Given the description of an element on the screen output the (x, y) to click on. 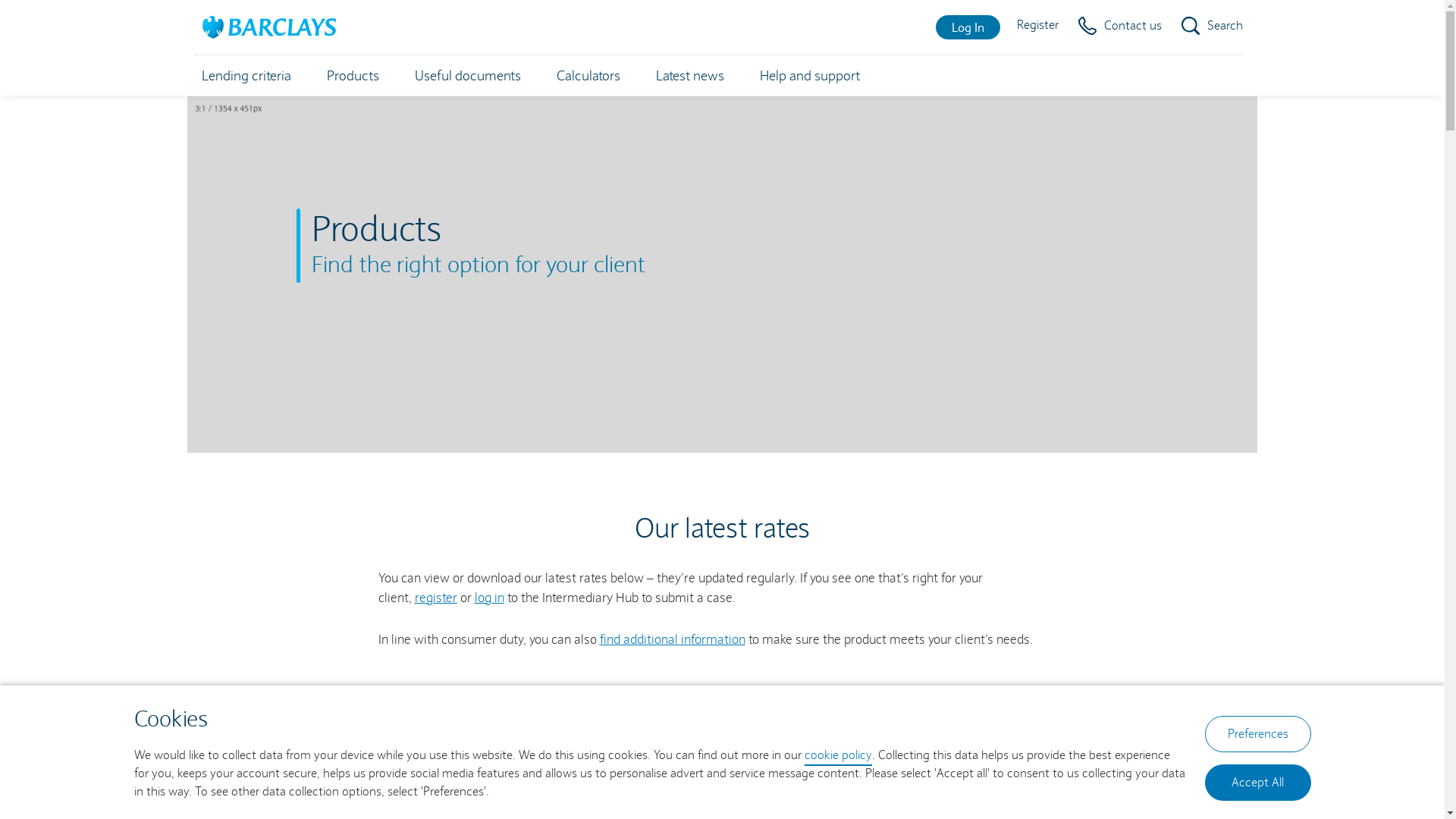
Calculators Element type: text (588, 75)
Useful documents Element type: text (466, 75)
Products Element type: text (351, 75)
Remortgage Element type: text (352, 753)
register Element type: text (435, 597)
log in Element type: text (489, 597)
Preferences Element type: text (1257, 733)
Lending criteria Element type: text (246, 75)
First time  buyer Element type: text (246, 753)
cookie policy Element type: text (837, 755)
find additional information Element type: text (671, 639)
Latest news Element type: text (689, 75)
Accept All Element type: text (1257, 782)
Log In Element type: text (967, 27)
Search Element type: text (1211, 24)
Contact us Element type: text (1119, 24)
Purchase Element type: text (628, 753)
Existing customer Element type: text (531, 753)
Register Element type: text (1036, 24)
Help and support Element type: text (809, 75)
